Given the description of an element on the screen output the (x, y) to click on. 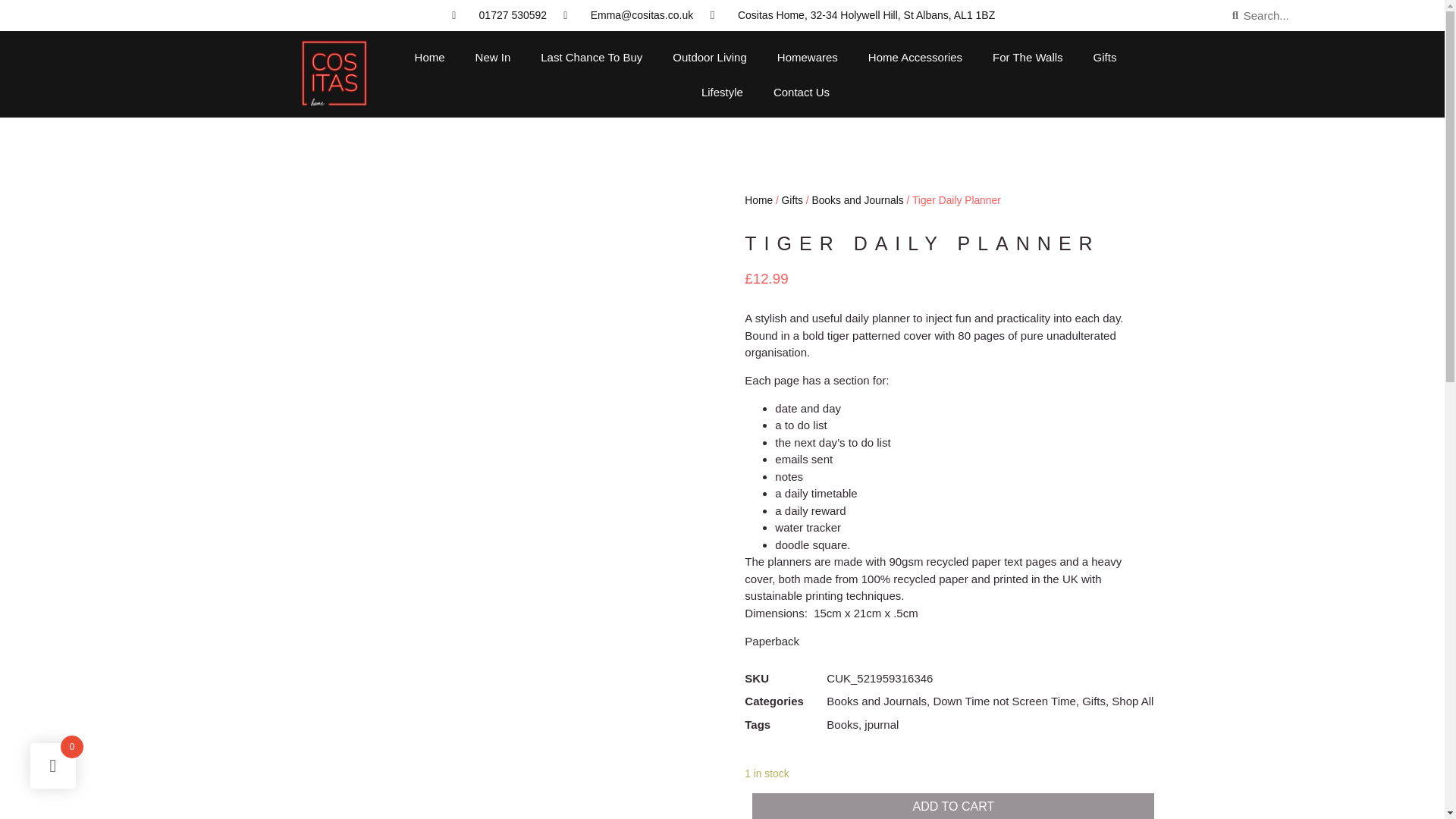
Home Accessories (914, 57)
Homewares (807, 57)
Last Chance To Buy (591, 57)
Home (429, 57)
01727 530592 (496, 15)
New In (492, 57)
Outdoor Living (709, 57)
